Given the description of an element on the screen output the (x, y) to click on. 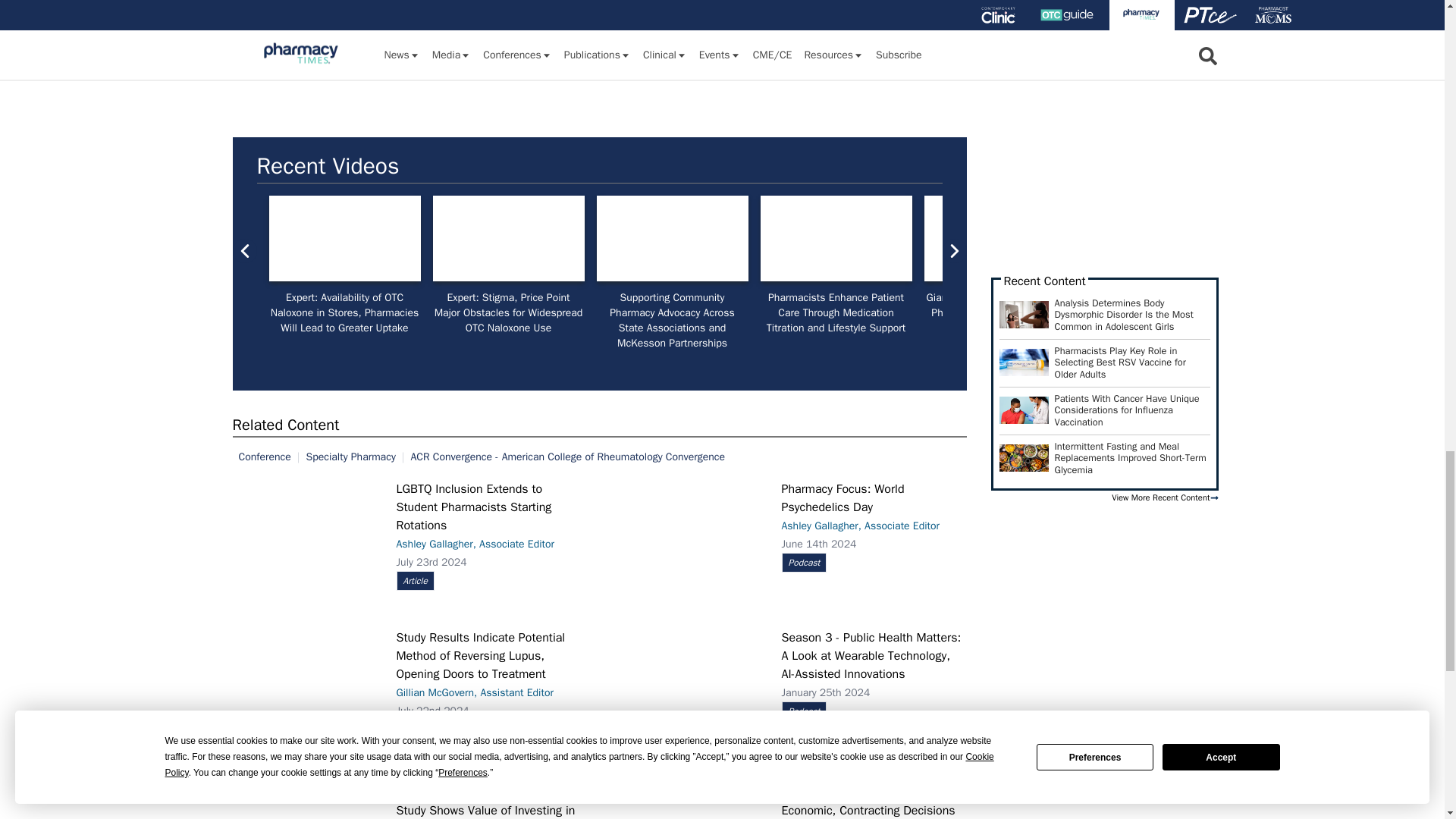
Naloxone concept represented by wooden letter tiles. (343, 238)
